Given the description of an element on the screen output the (x, y) to click on. 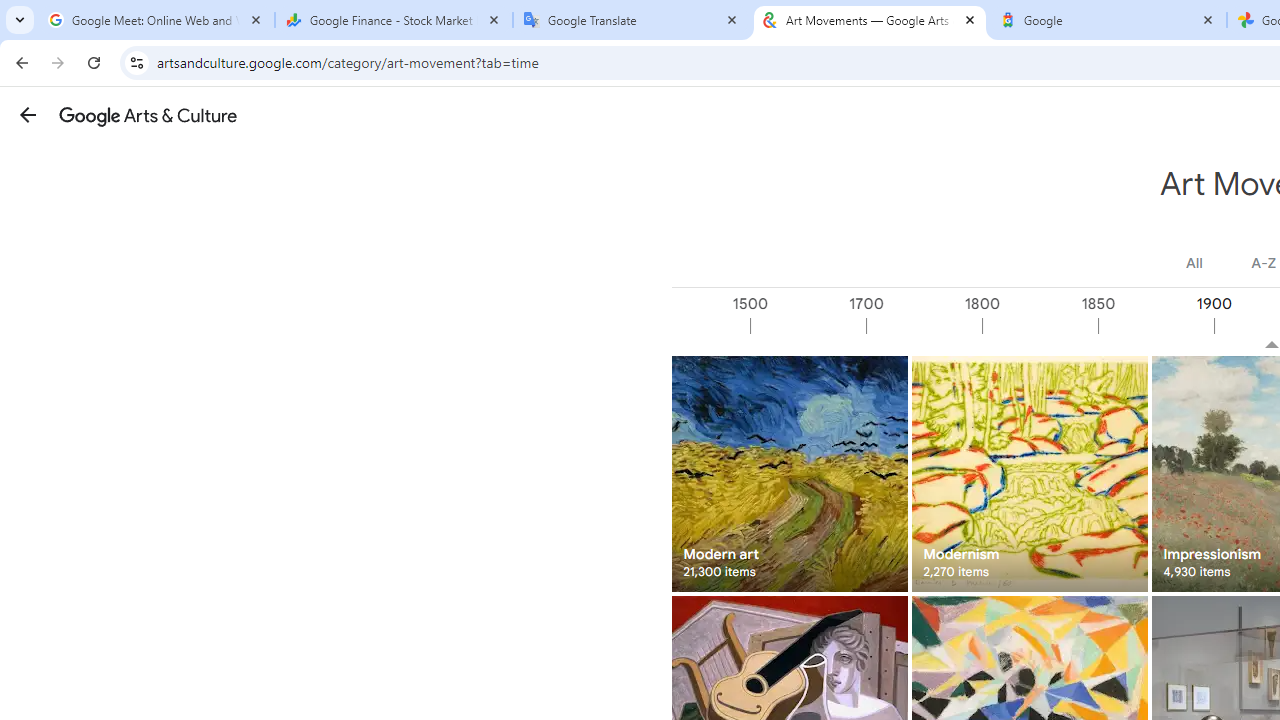
Modernism 2,270 items (1029, 473)
Modern art 21,300 items (788, 473)
Google Translate (632, 20)
1700 (923, 326)
1850 (1154, 326)
1500 (807, 326)
All (1194, 263)
1000 (691, 326)
Google (1108, 20)
